Given the description of an element on the screen output the (x, y) to click on. 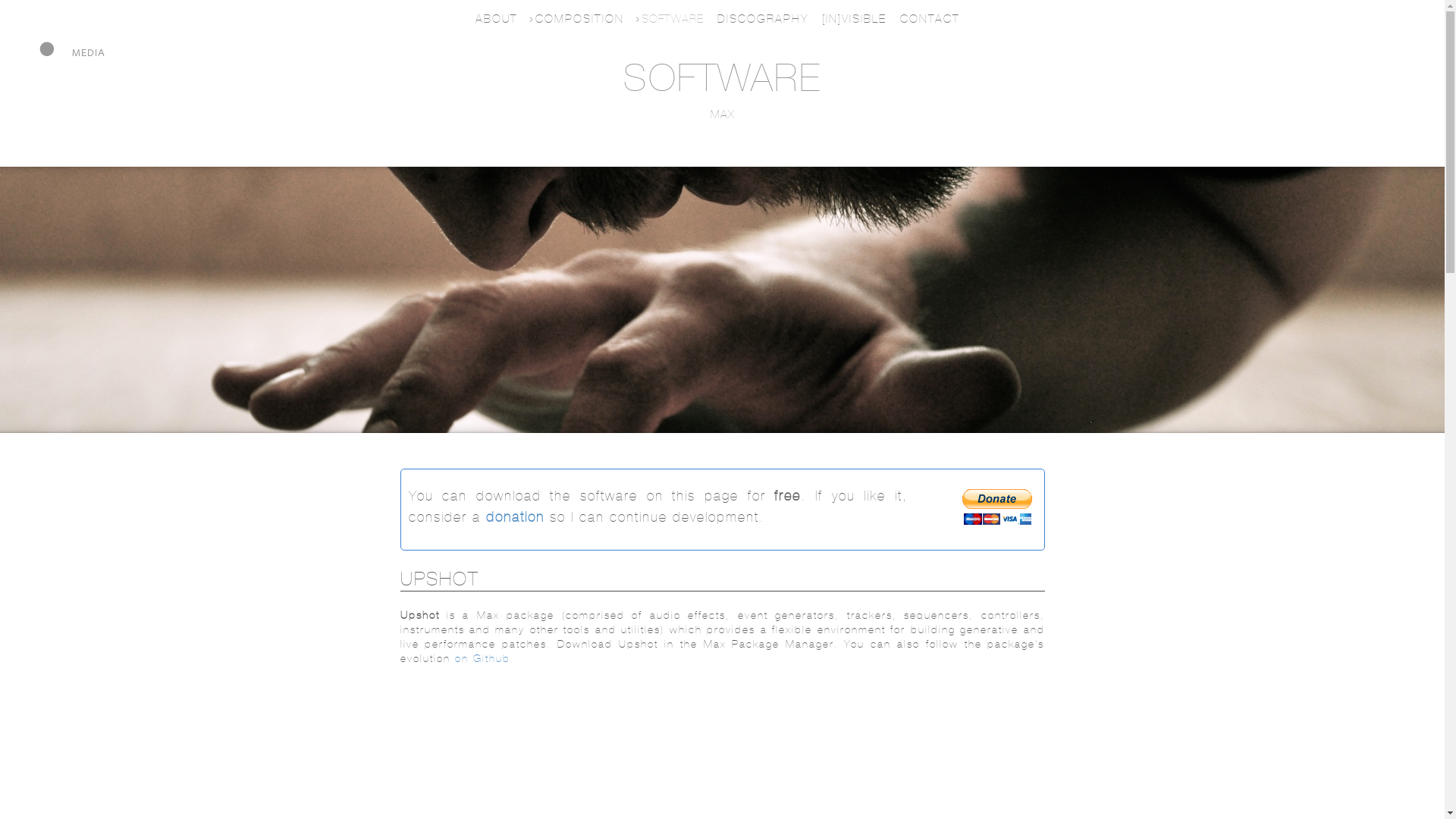
SOFTWARE Element type: text (677, 18)
ABOUT Element type: text (501, 18)
[IN]VISIBLE Element type: text (858, 18)
DISCOGRAPHY Element type: text (767, 18)
on Github Element type: text (482, 658)
COMPOSITION Element type: text (584, 18)
PayPal - The safer, easier way to pay online! Element type: hover (997, 506)
CONTACT Element type: text (934, 18)
donation Element type: text (514, 516)
